Given the description of an element on the screen output the (x, y) to click on. 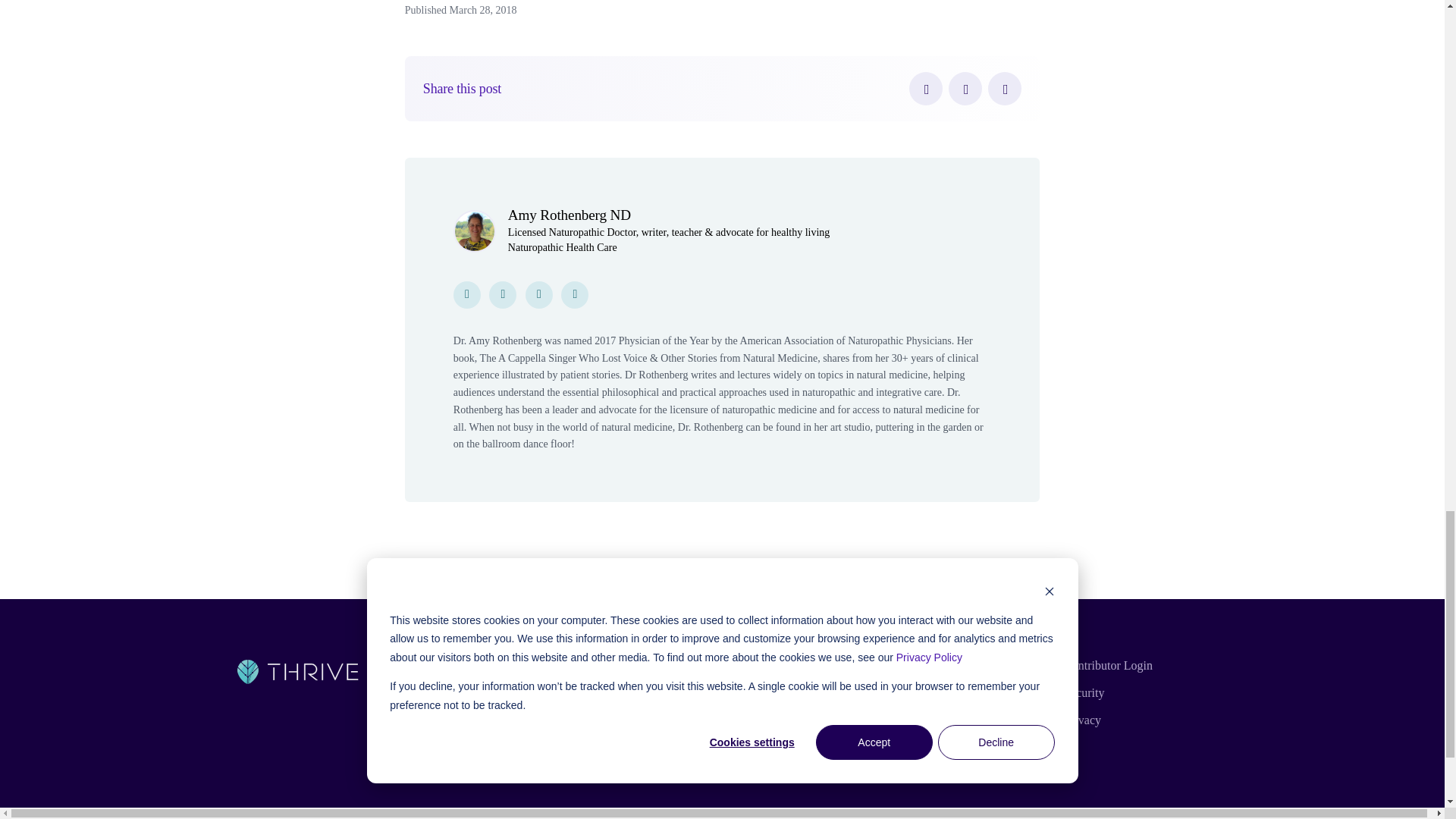
Facebook (925, 88)
LinkedIn (1005, 88)
Amy Rothenberg ND (569, 214)
Twitter (965, 88)
